Given the description of an element on the screen output the (x, y) to click on. 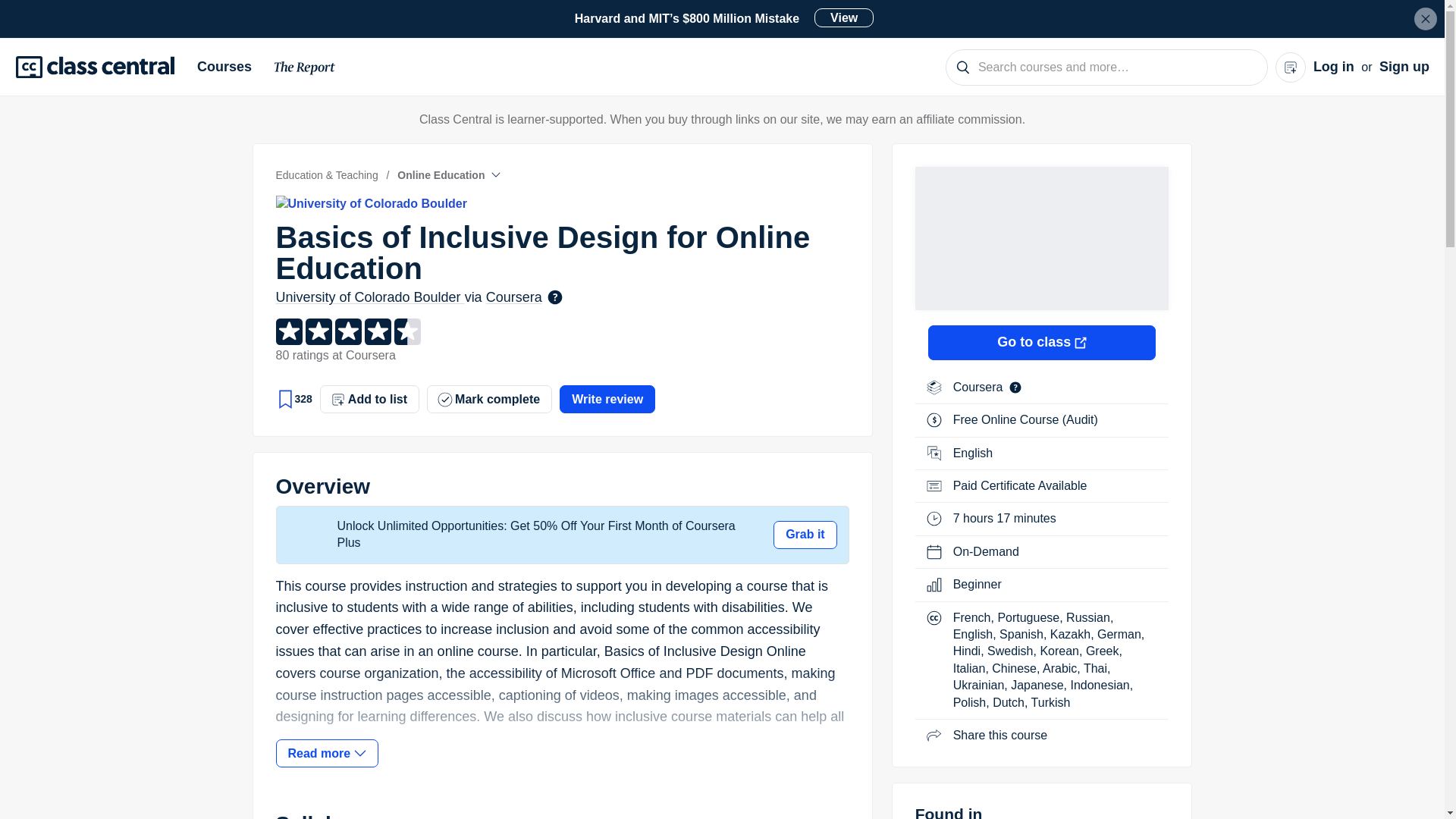
Close (1425, 18)
The Report (304, 69)
Courses (229, 66)
List of Coursera MOOCs (979, 386)
